Given the description of an element on the screen output the (x, y) to click on. 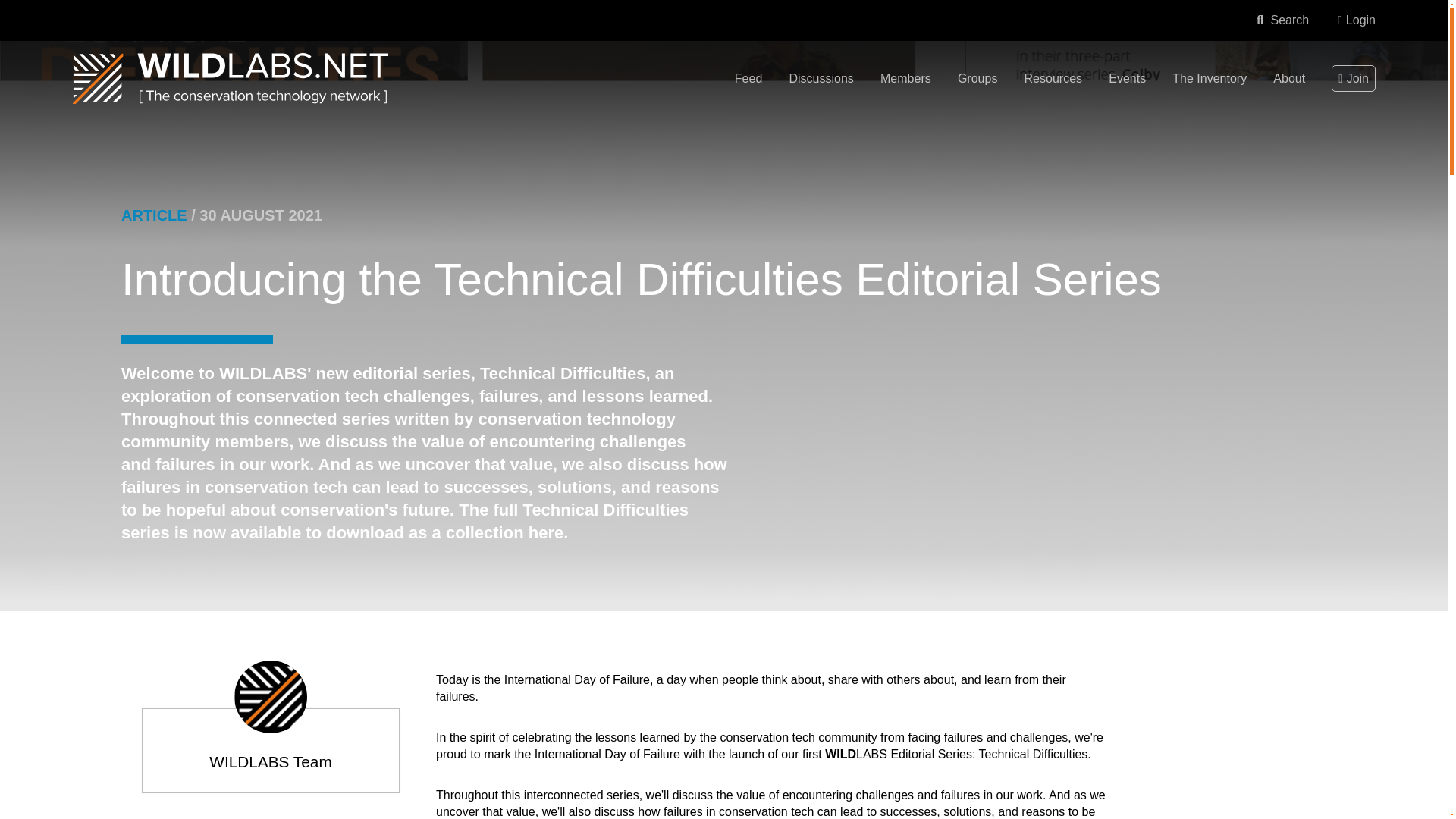
Members (905, 81)
About (1288, 81)
Search (1282, 19)
Resources (1053, 81)
Discussions (821, 81)
Feed (748, 81)
The Inventory (1209, 81)
Join (1353, 78)
Login (1356, 19)
